Given the description of an element on the screen output the (x, y) to click on. 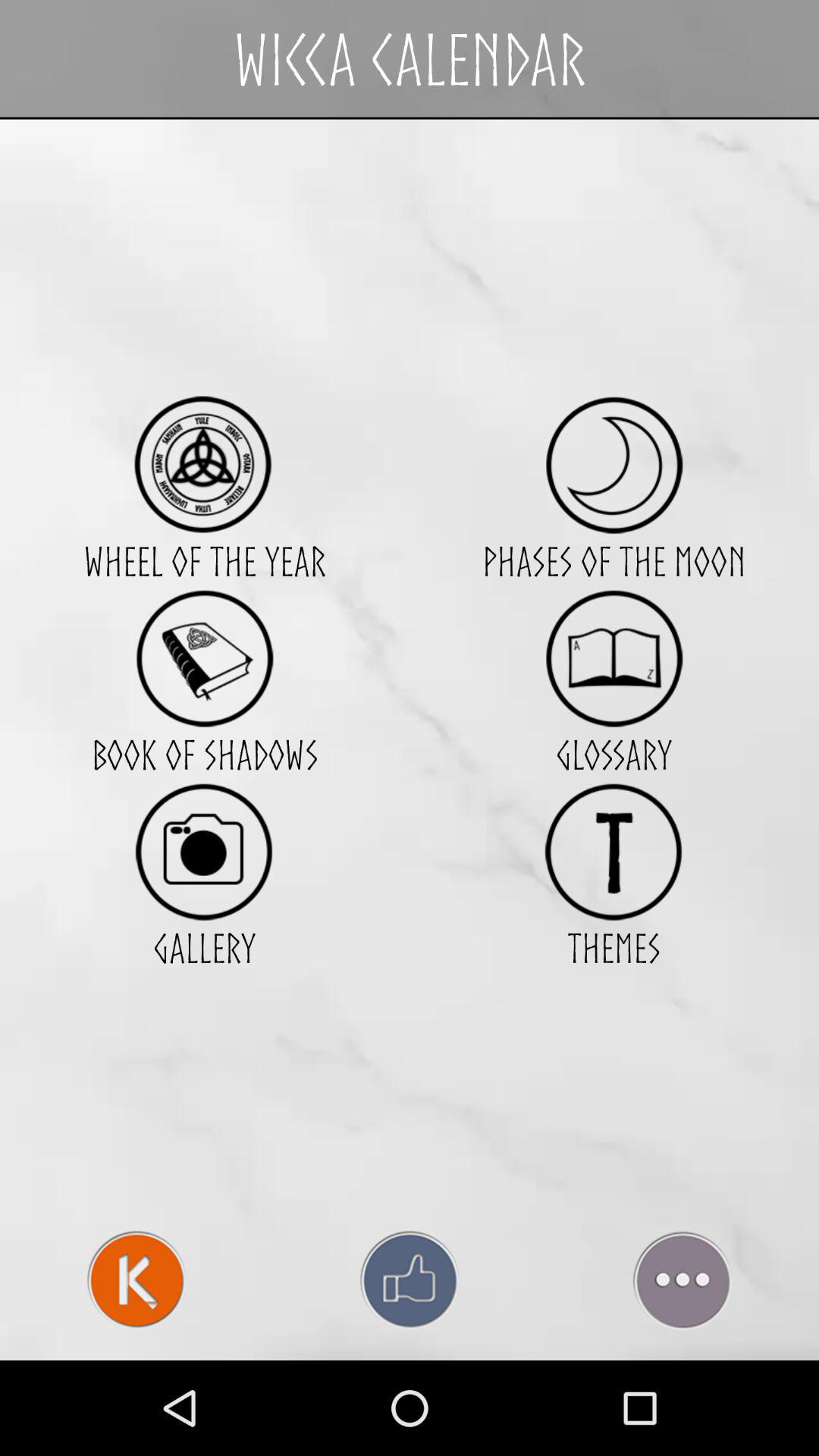
turn off the icon at the bottom (409, 1280)
